Given the description of an element on the screen output the (x, y) to click on. 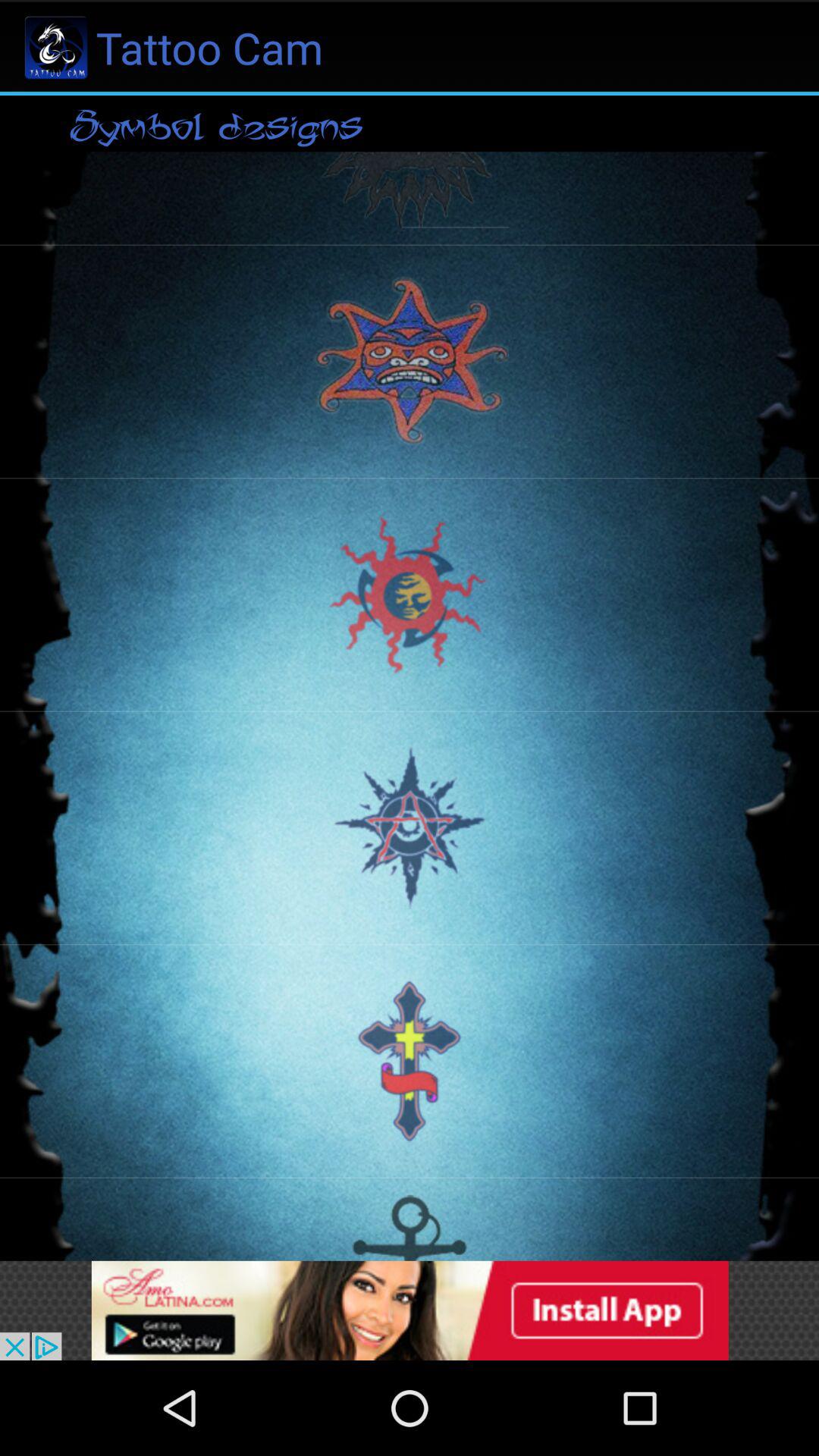
advertisement (409, 1310)
